Given the description of an element on the screen output the (x, y) to click on. 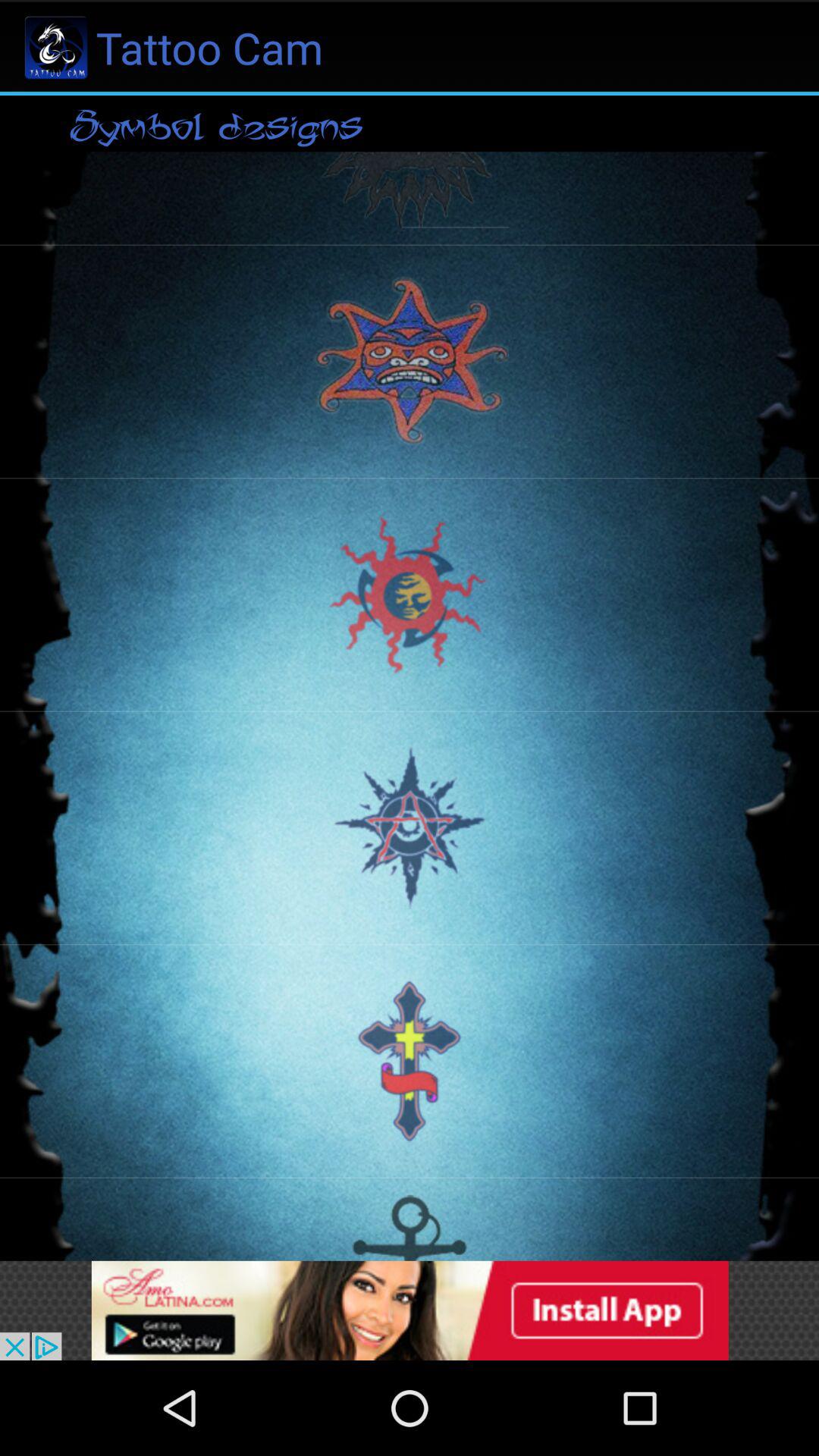
advertisement (409, 1310)
